Given the description of an element on the screen output the (x, y) to click on. 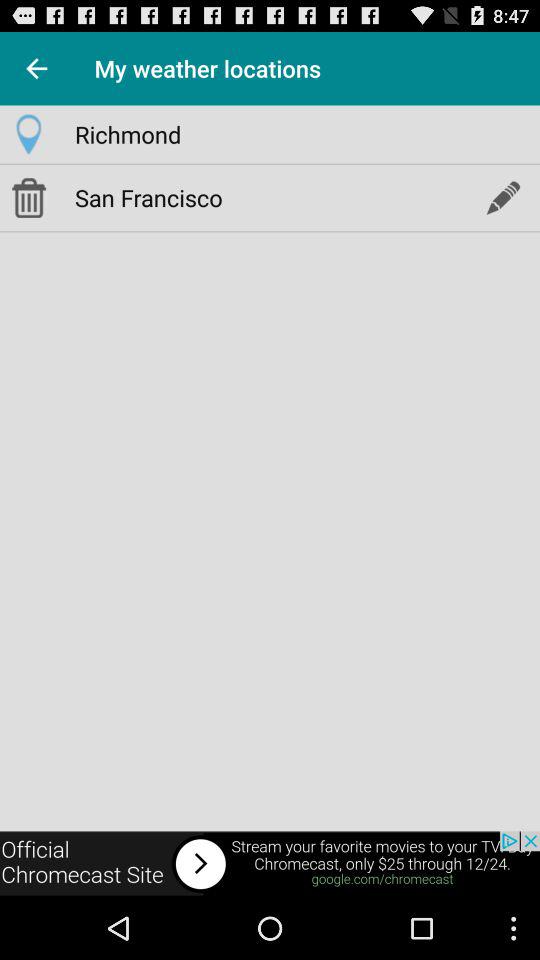
go back (36, 68)
